Given the description of an element on the screen output the (x, y) to click on. 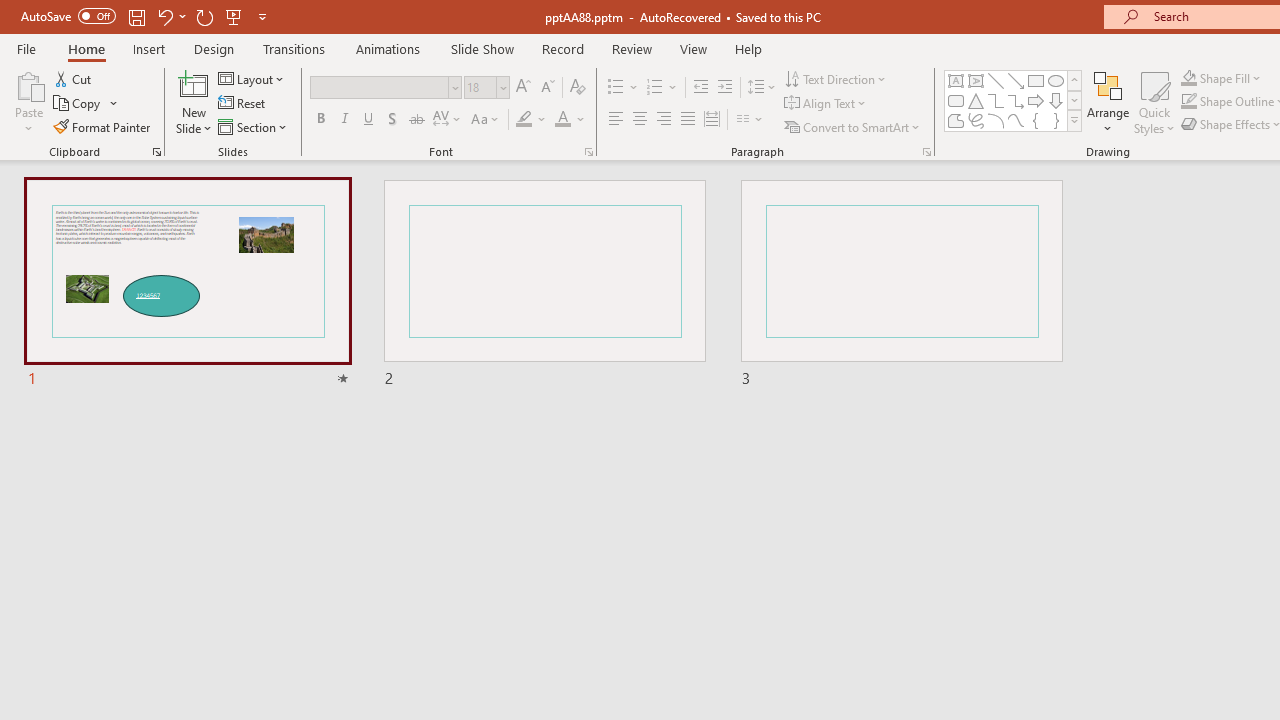
Line Arrow (1016, 80)
Justify (687, 119)
More Options (1232, 78)
Align Right (663, 119)
Record (562, 48)
Font Size (480, 87)
Redo (204, 15)
Connector: Elbow Arrow (1016, 100)
Quick Access Toolbar (145, 16)
Paste (28, 102)
Numbering (661, 87)
Font (379, 87)
Italic (344, 119)
Shape Fill (1221, 78)
Align Left (616, 119)
